Given the description of an element on the screen output the (x, y) to click on. 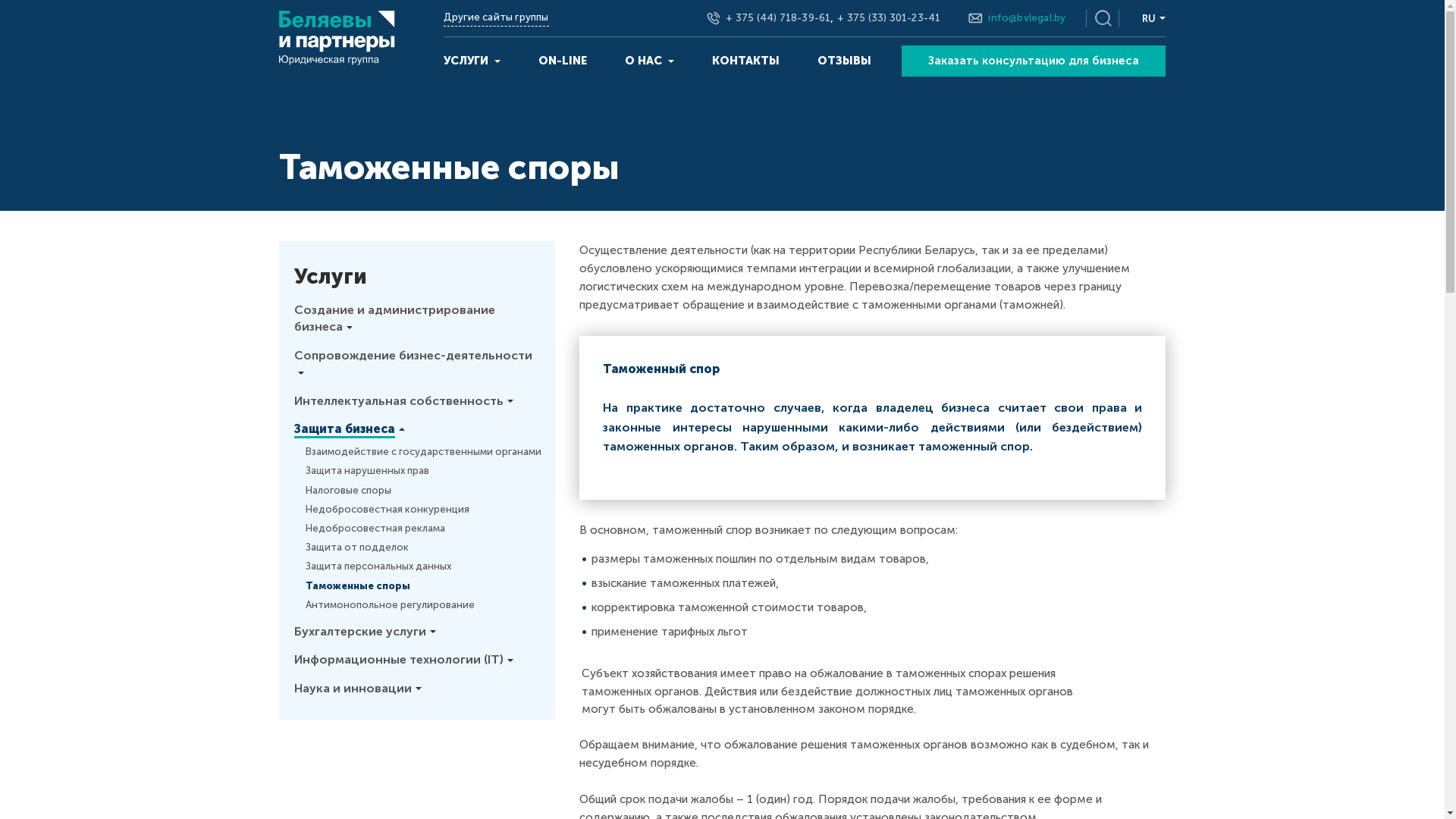
+ 375 (33) 301-23-41 Element type: text (888, 17)
info@bvlegal.by Element type: text (1026, 17)
ON-LINE Element type: text (562, 60)
+ 375 (44) 718-39-61 Element type: text (777, 17)
info@bvlegal.by Element type: text (1026, 17)
RU Element type: text (1153, 17)
